Given the description of an element on the screen output the (x, y) to click on. 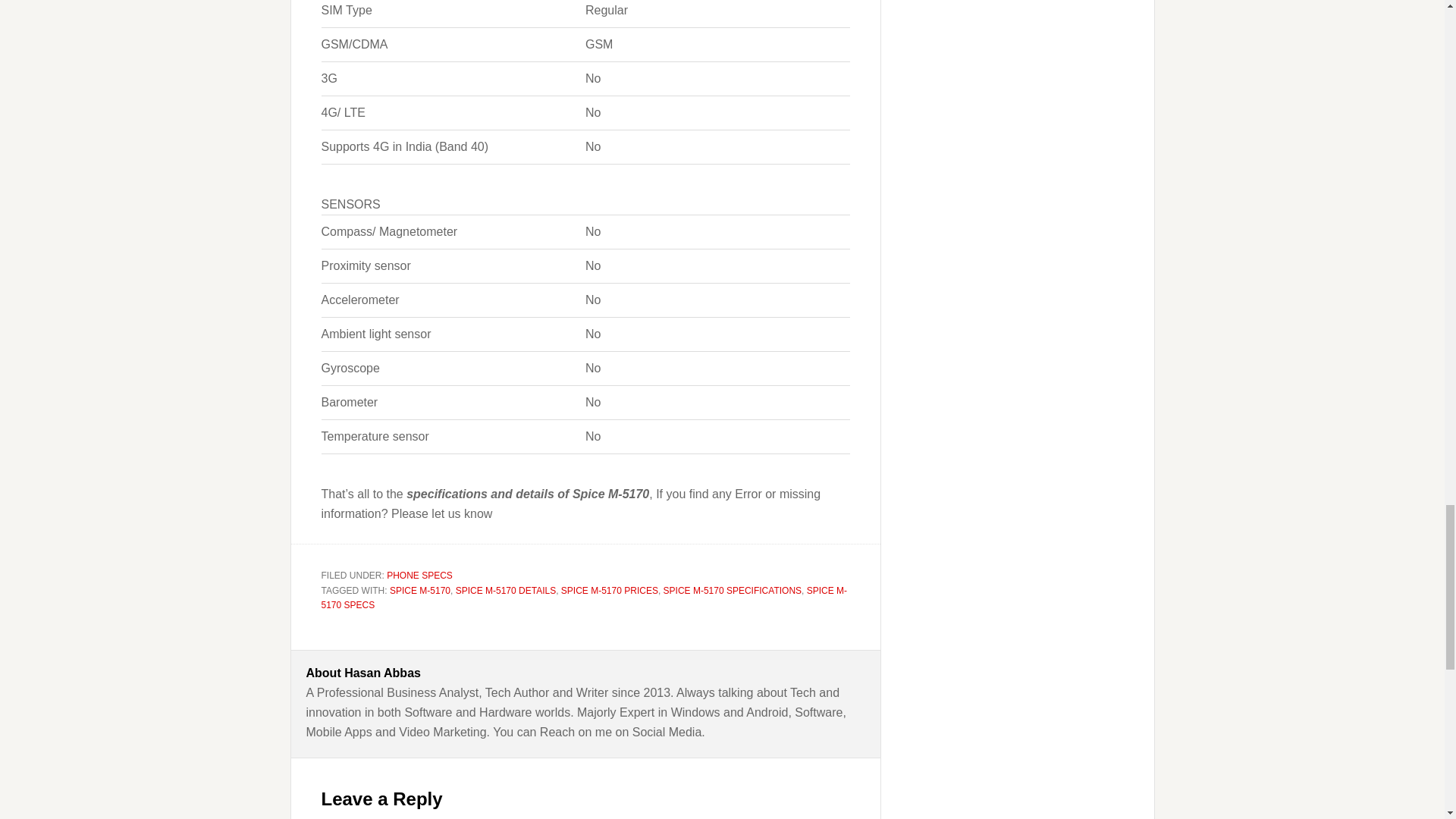
SPICE M-5170 SPECS (584, 597)
SPICE M-5170 SPECIFICATIONS (732, 590)
SPICE M-5170 DETAILS (505, 590)
SPICE M-5170 PRICES (609, 590)
SPICE M-5170 (419, 590)
PHONE SPECS (419, 575)
